Given the description of an element on the screen output the (x, y) to click on. 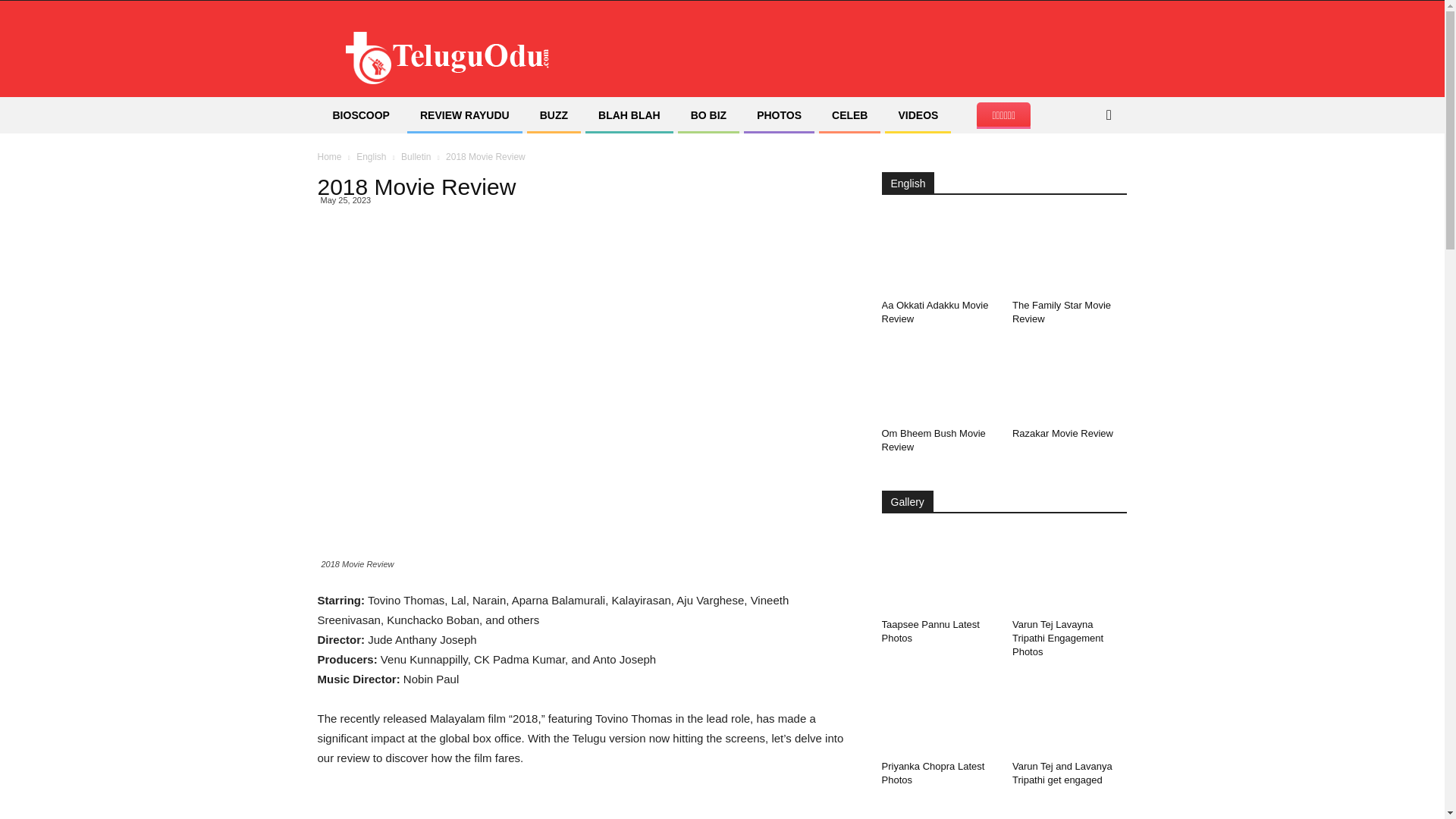
View all posts in Bulletin (415, 156)
Search (1085, 175)
Aa Okkati Adakku Movie Review (934, 311)
VIDEOS (917, 115)
Bulletin (415, 156)
BIOSCOOP (361, 115)
Home (328, 156)
The Family Star Movie Review (1068, 253)
BUZZ (553, 115)
PHOTOS (778, 115)
View all posts in English (370, 156)
The Family Star Movie Review (1060, 311)
BLAH BLAH (628, 115)
Om Bheem Bush Movie Review (937, 382)
BO BIZ (708, 115)
